Given the description of an element on the screen output the (x, y) to click on. 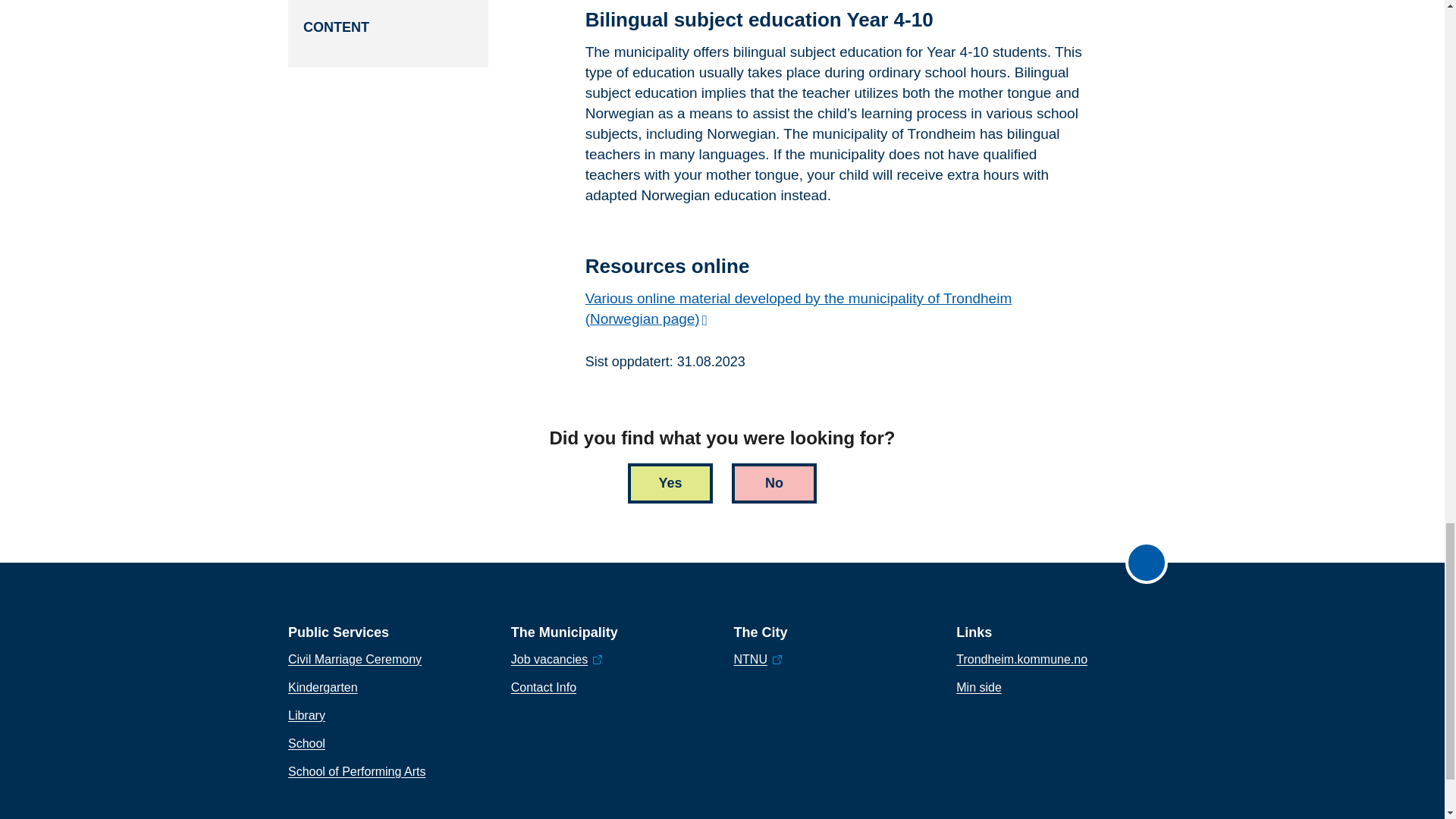
Min side (978, 687)
No (774, 483)
Job vacancies (557, 659)
Yes (670, 483)
Library (306, 715)
NTNU (758, 659)
Trondheim.kommune.no (1021, 659)
LinkedIn (1069, 814)
School of Performing Arts (356, 771)
Facebook (974, 814)
